Given the description of an element on the screen output the (x, y) to click on. 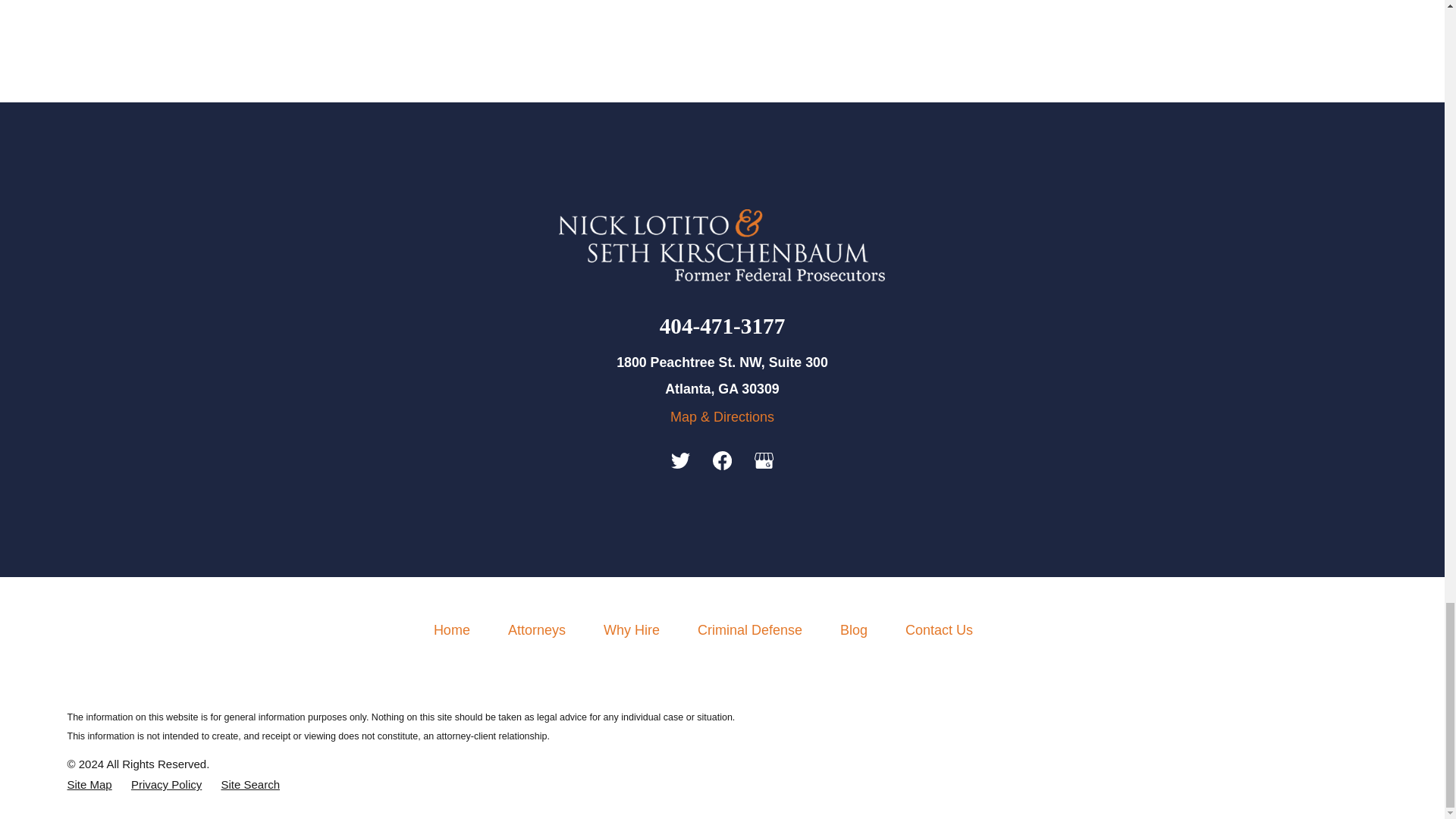
Google Business Profile (763, 460)
Facebook (722, 460)
Twitter (680, 460)
Home (722, 244)
